Given the description of an element on the screen output the (x, y) to click on. 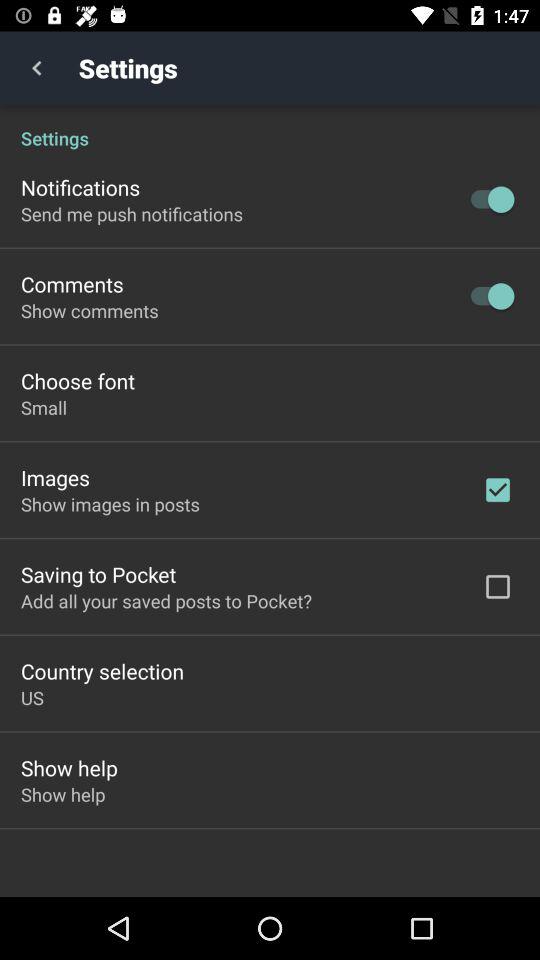
launch the add all your item (166, 600)
